Given the description of an element on the screen output the (x, y) to click on. 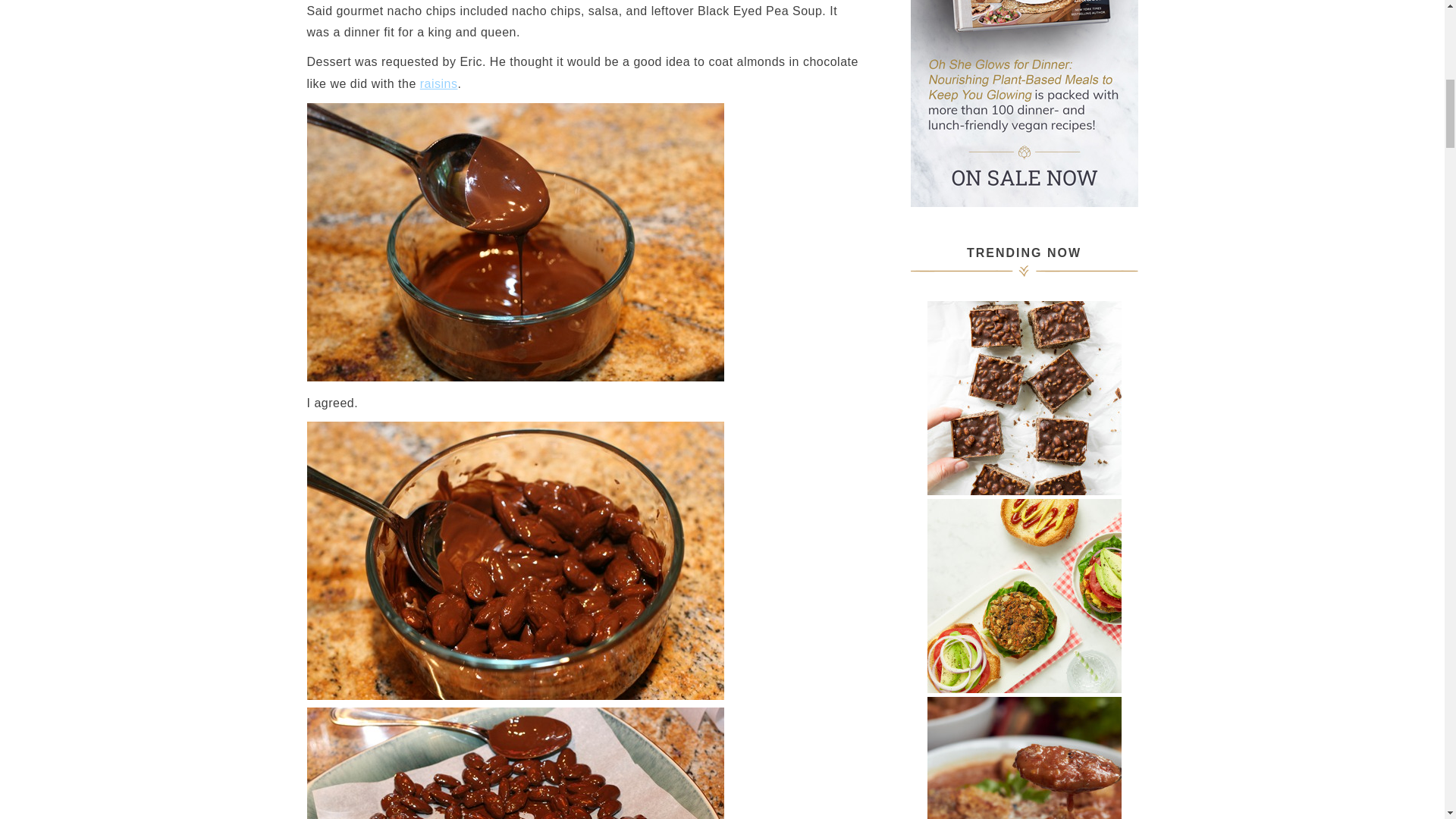
raisins (439, 83)
